Given the description of an element on the screen output the (x, y) to click on. 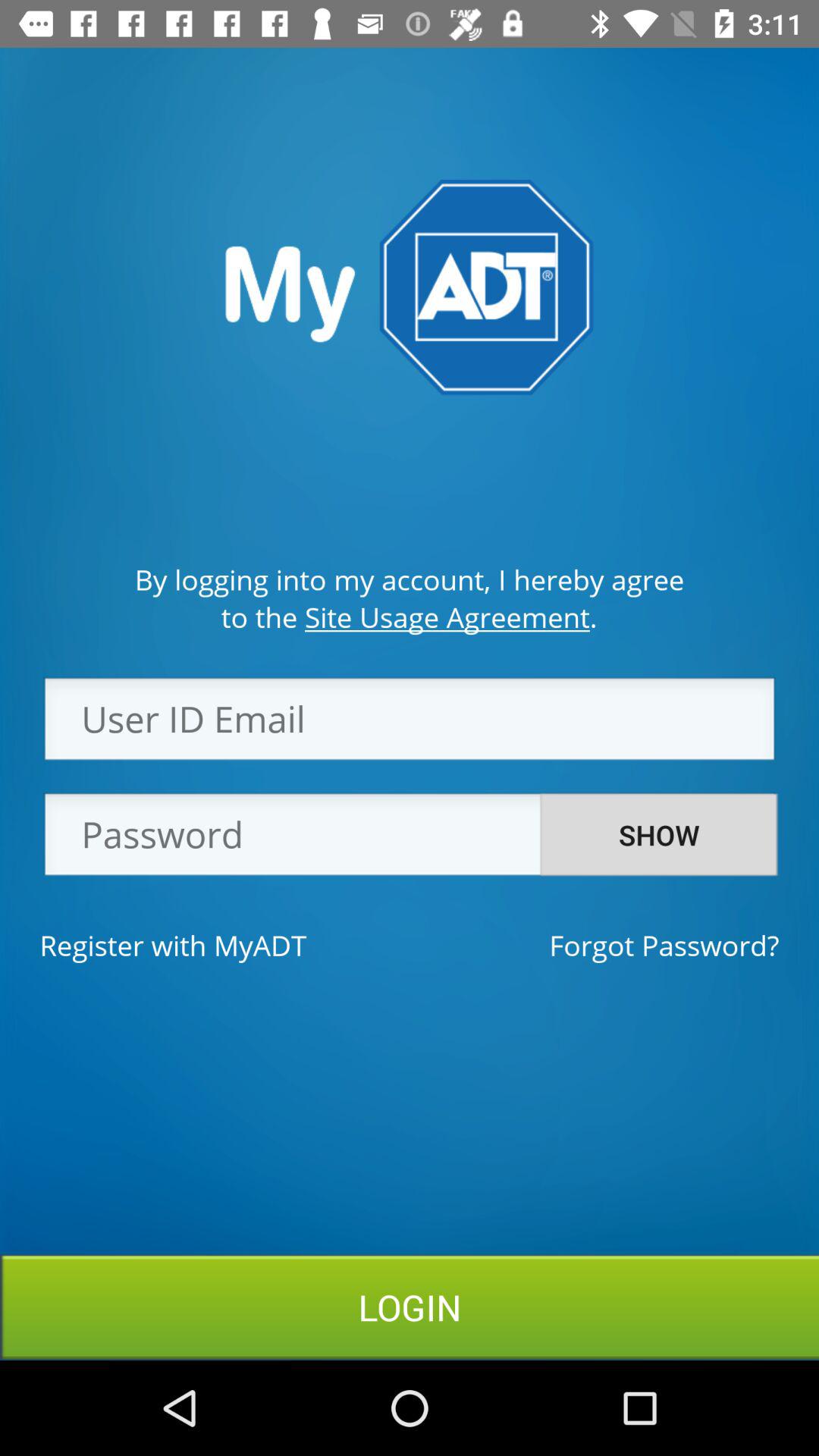
click by logging into icon (409, 579)
